Given the description of an element on the screen output the (x, y) to click on. 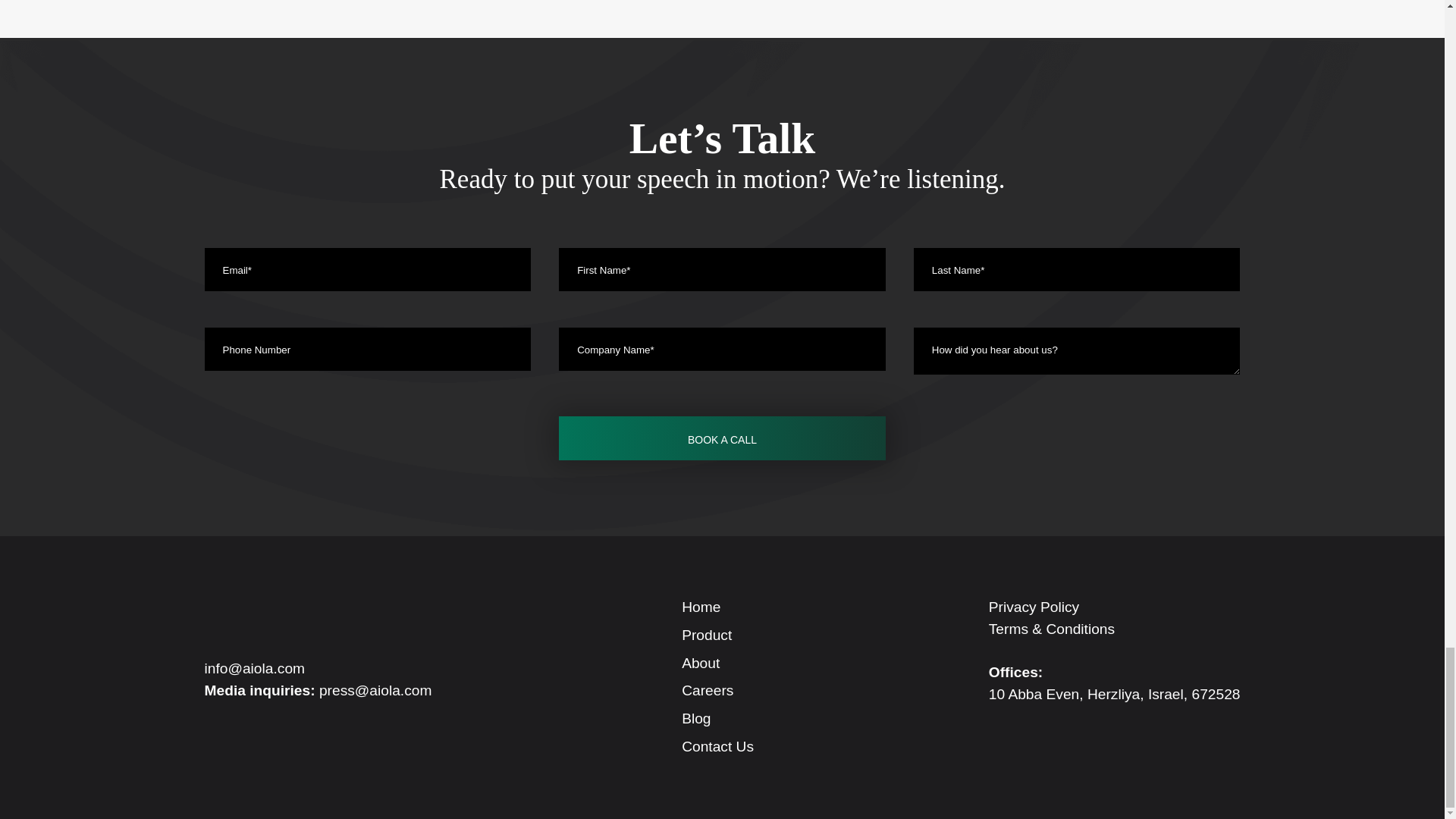
BOOK A CALL (722, 438)
BOOK A CALL (722, 438)
Home (700, 606)
